Given the description of an element on the screen output the (x, y) to click on. 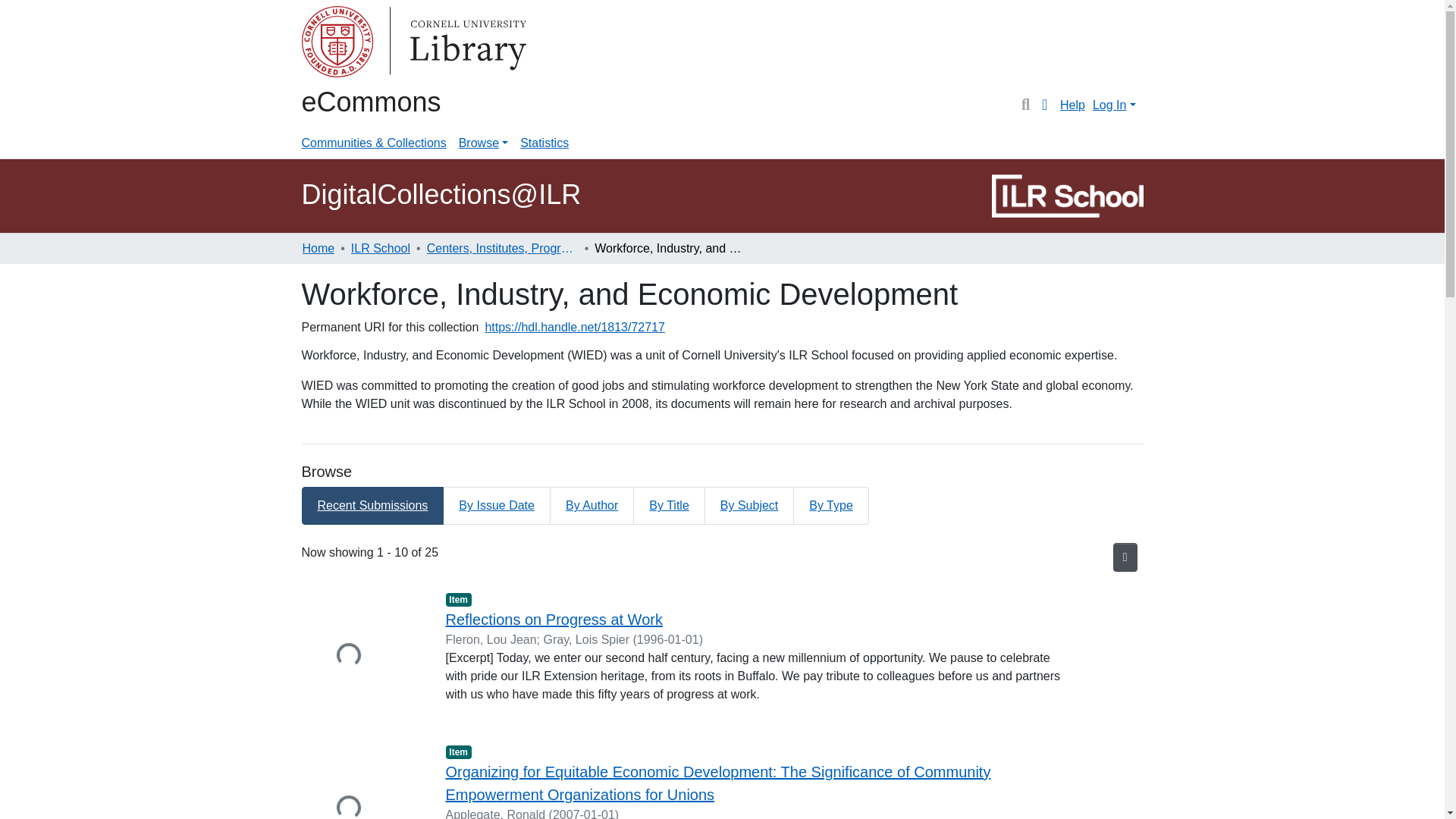
Loading... (362, 780)
Language switch (1044, 105)
By Issue Date (497, 505)
Statistics (544, 142)
Reflections on Progress at Work (553, 619)
eCommons (371, 101)
Centers, Institutes, Programs (502, 248)
Loading... (362, 656)
Log In (1113, 104)
Statistics (544, 142)
By Type (831, 505)
Home (317, 248)
Library (362, 43)
Help (1071, 104)
